Given the description of an element on the screen output the (x, y) to click on. 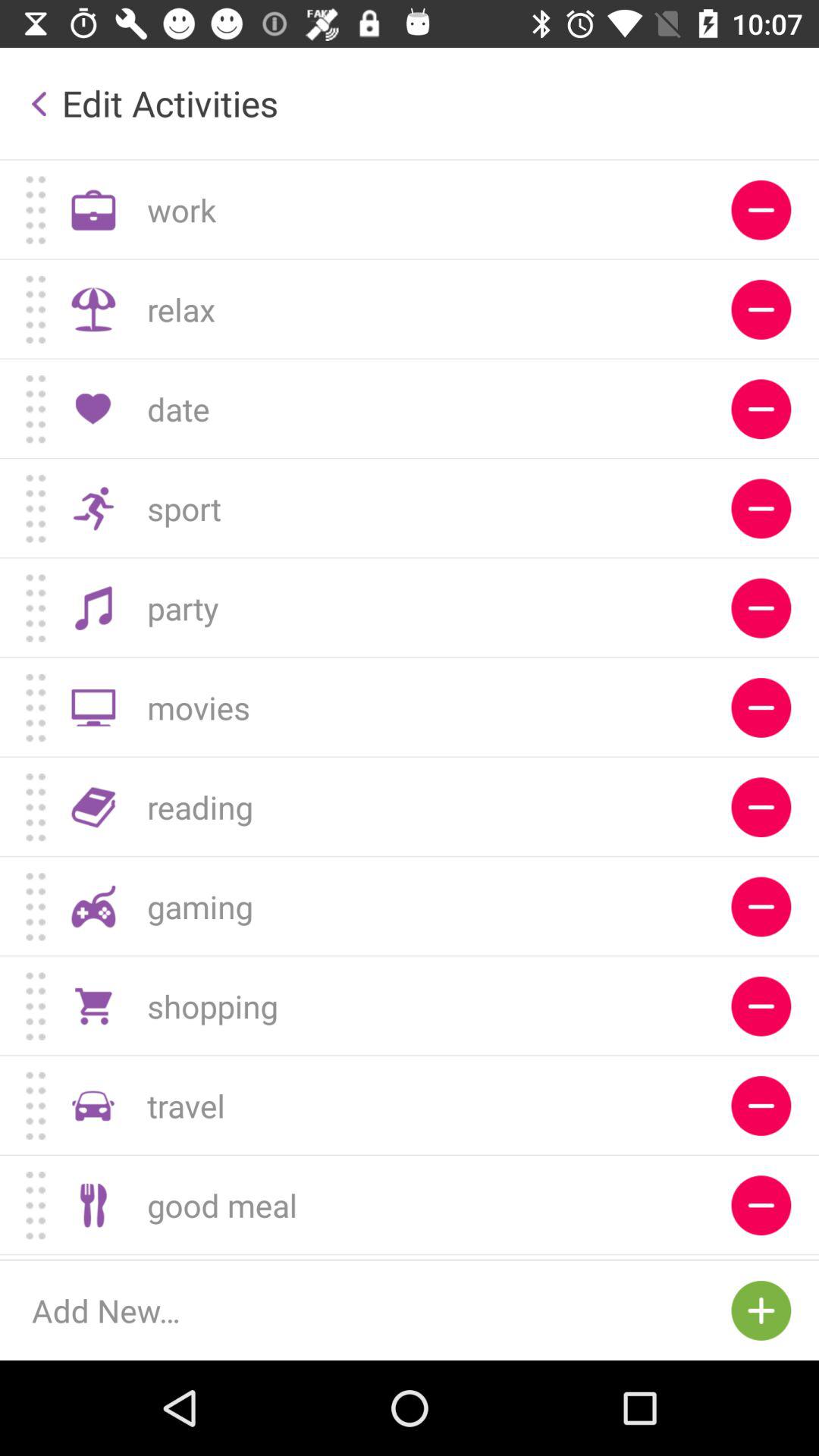
tap to remove (761, 1257)
